Given the description of an element on the screen output the (x, y) to click on. 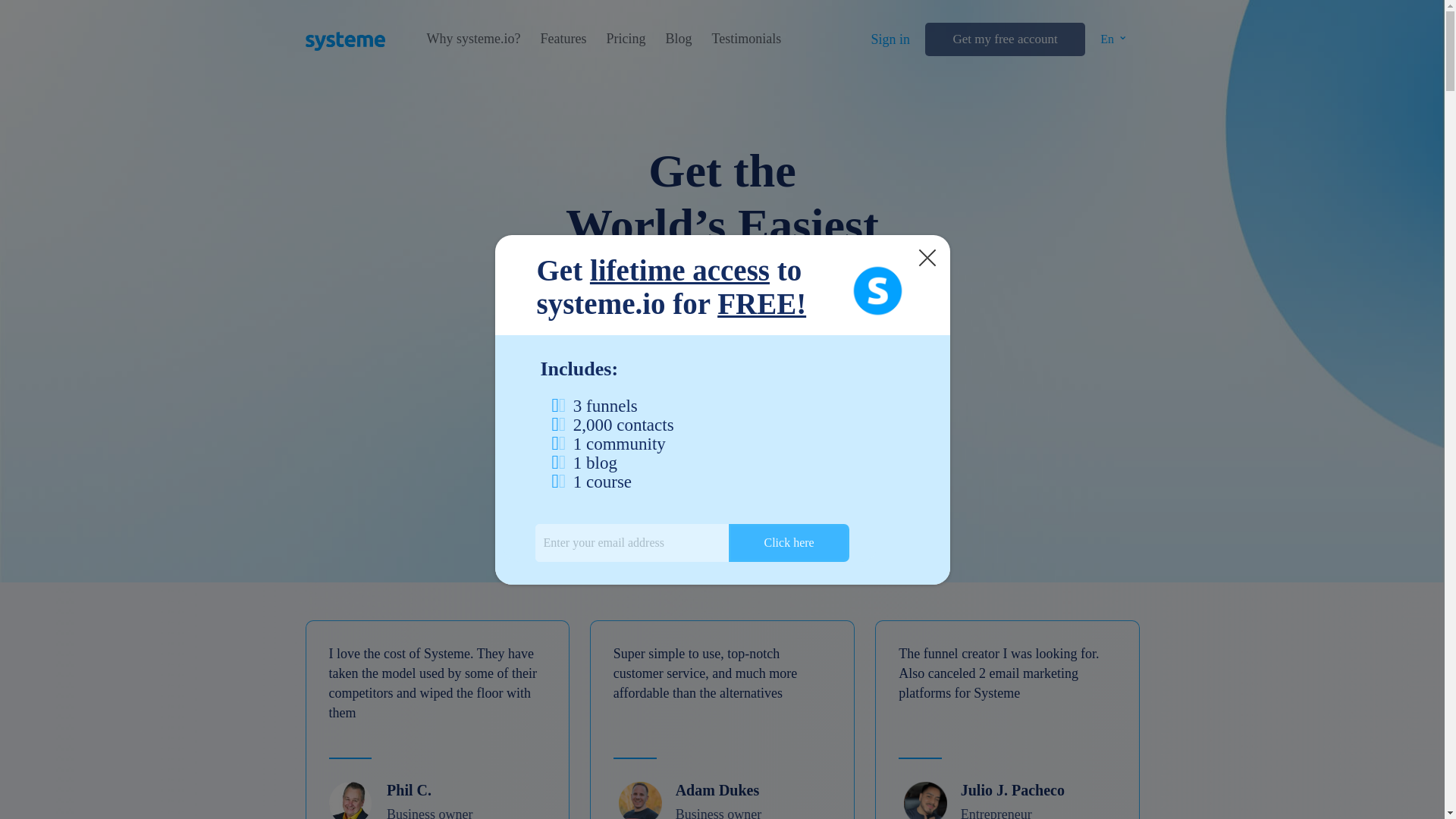
Features (563, 38)
Get my free account (1004, 39)
Pricing (625, 38)
Why systeme.io? (472, 38)
Sign in (890, 39)
Blog (678, 38)
Testimonials (745, 38)
